Given the description of an element on the screen output the (x, y) to click on. 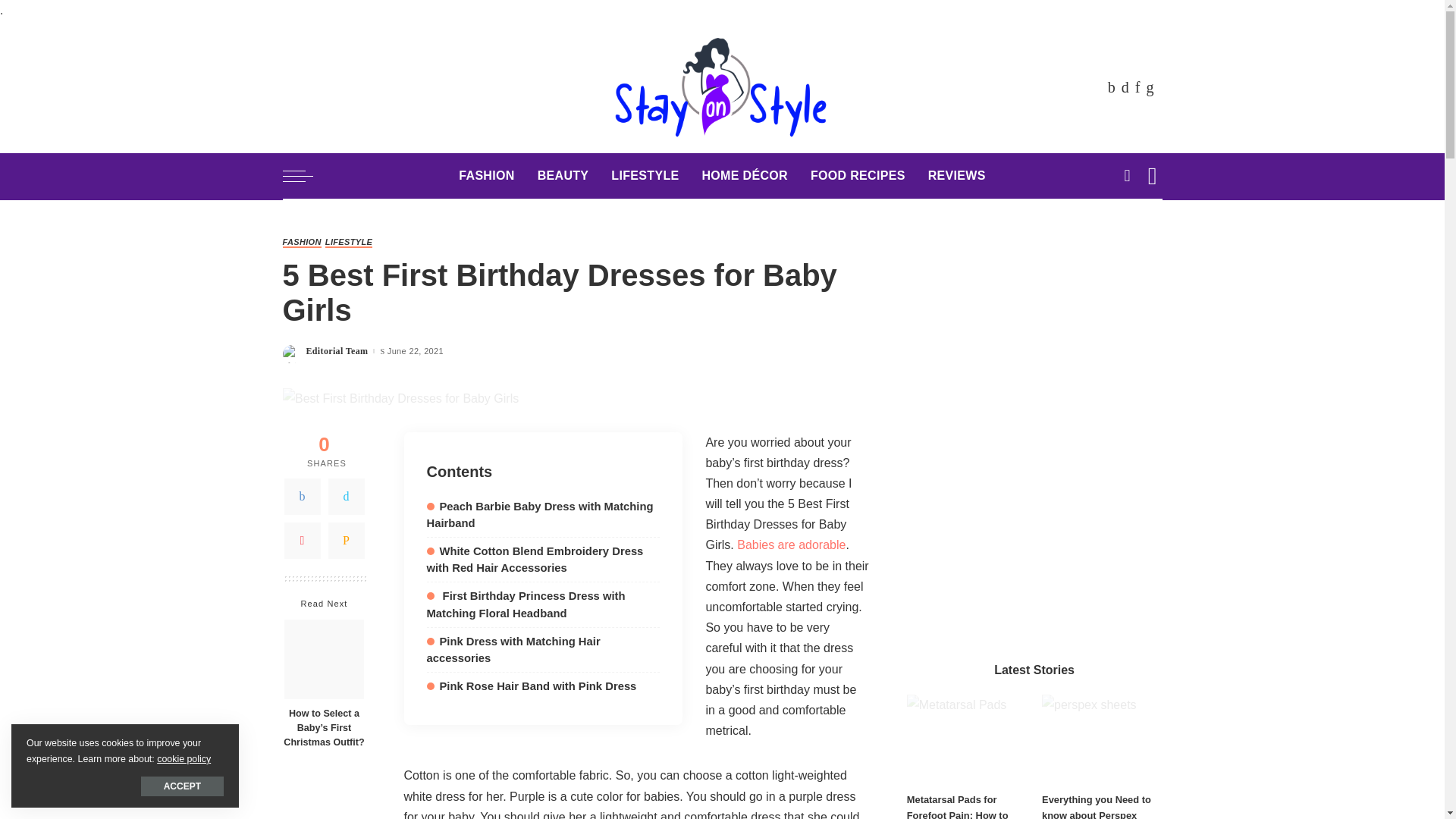
LIFESTYLE (644, 176)
FOOD RECIPES (858, 176)
REVIEWS (957, 176)
FASHION (485, 176)
Stay On Style (721, 87)
BEAUTY (562, 176)
